Given the description of an element on the screen output the (x, y) to click on. 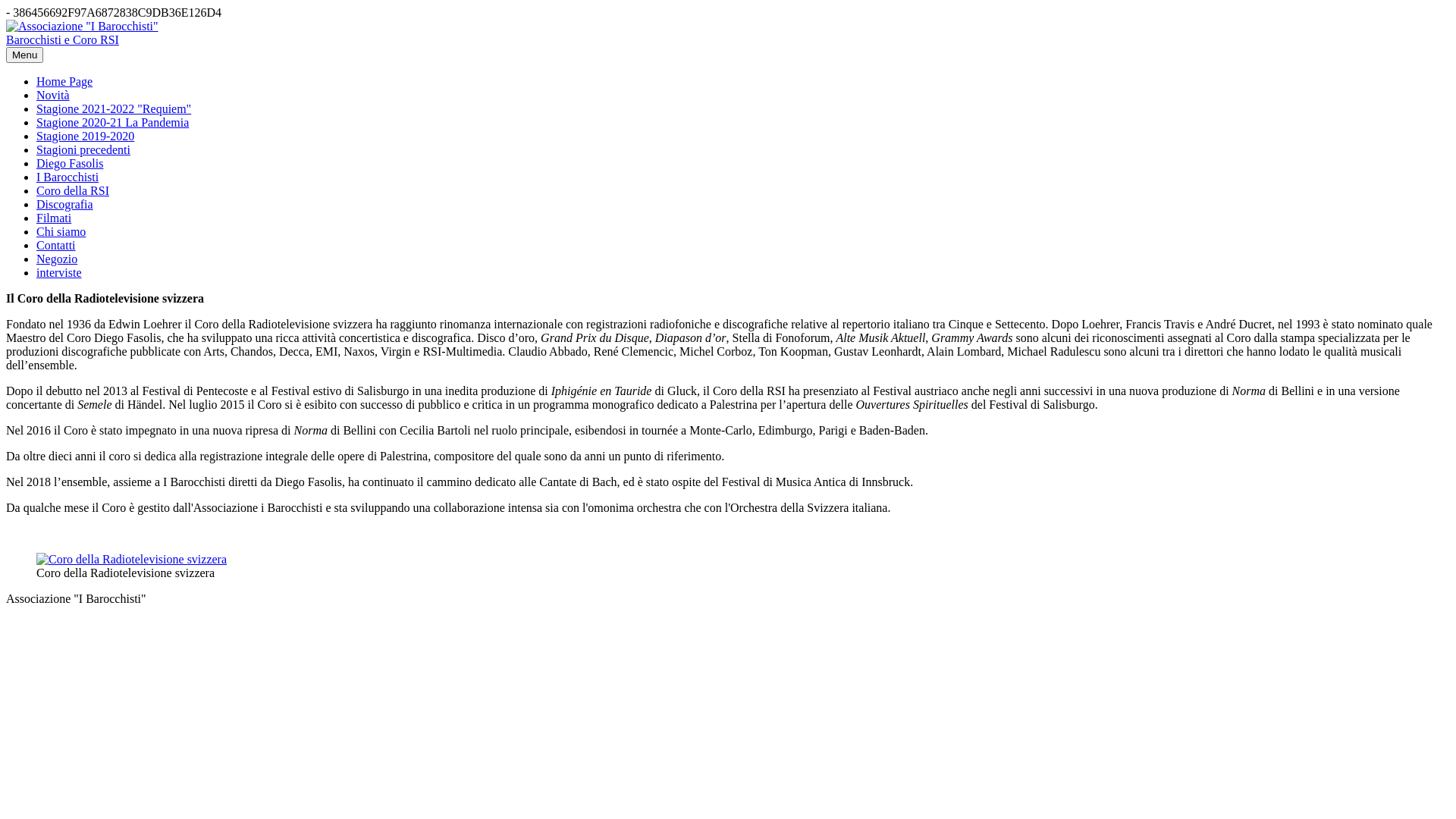
Home Page Element type: text (64, 81)
I Barocchisti Element type: text (67, 176)
Stagione 2019-2020 Element type: text (85, 135)
Stagione 2020-21 La Pandemia Element type: text (112, 122)
interviste Element type: text (58, 272)
Barocchisti e Coro RSI Element type: text (62, 39)
Menu Element type: text (24, 54)
Contatti Element type: text (55, 244)
Negozio Element type: text (56, 258)
Filmati Element type: text (53, 217)
Coro della Radiotelevisione svizzera Element type: hover (131, 558)
Coro della Radiotelevisione svizzera Element type: hover (131, 559)
Discografia Element type: text (64, 203)
Coro della RSI Element type: text (72, 190)
Diego Fasolis Element type: text (69, 162)
Chi siamo Element type: text (60, 231)
Stagioni precedenti Element type: text (83, 149)
Stagione 2021-2022 "Requiem" Element type: text (113, 108)
Associazione "I Barocchisti" Element type: hover (82, 26)
